Given the description of an element on the screen output the (x, y) to click on. 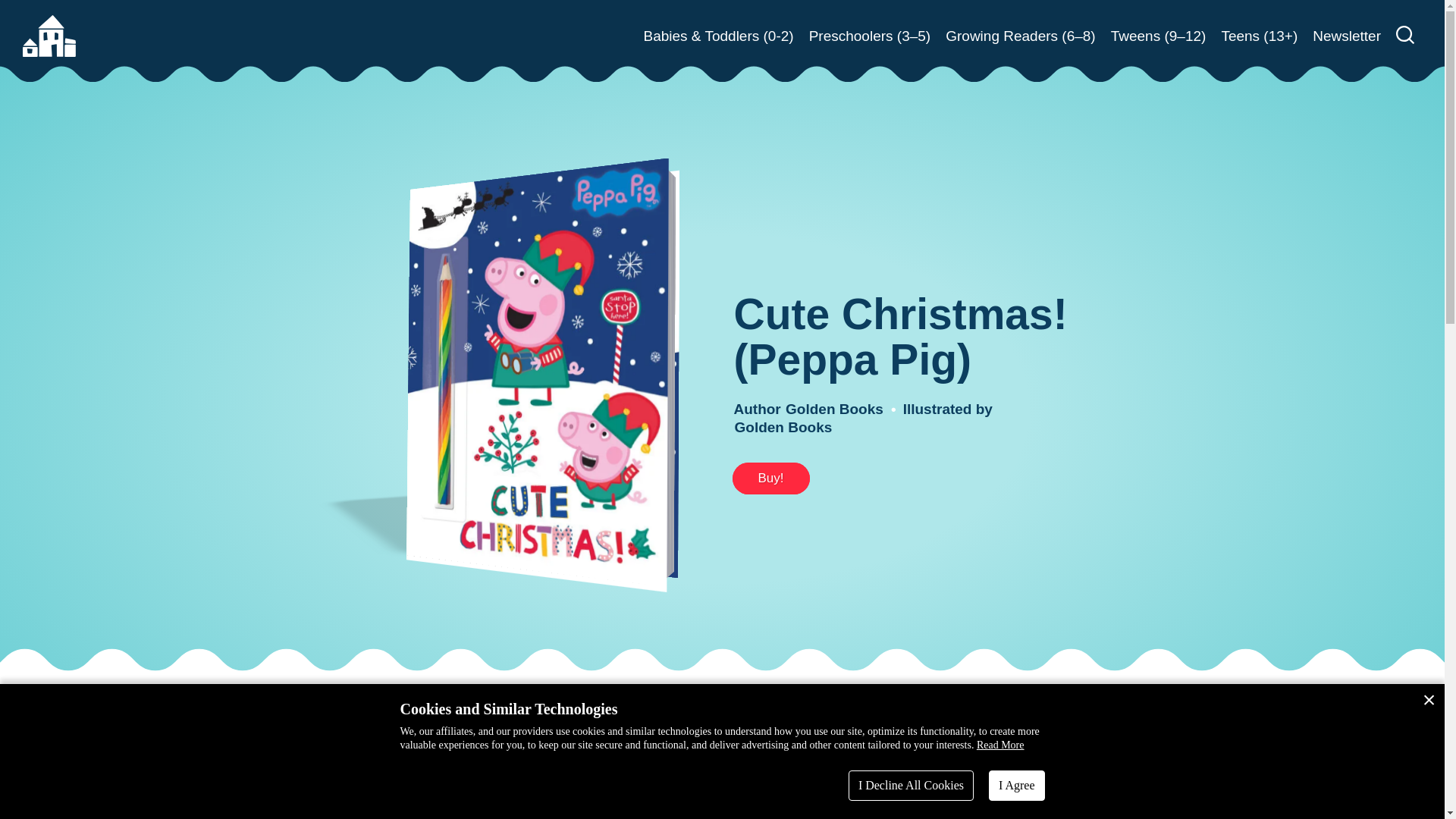
Newsletter (1346, 36)
Golden Books (833, 408)
Buy! (770, 478)
Golden Books (782, 426)
Home (49, 35)
